Given the description of an element on the screen output the (x, y) to click on. 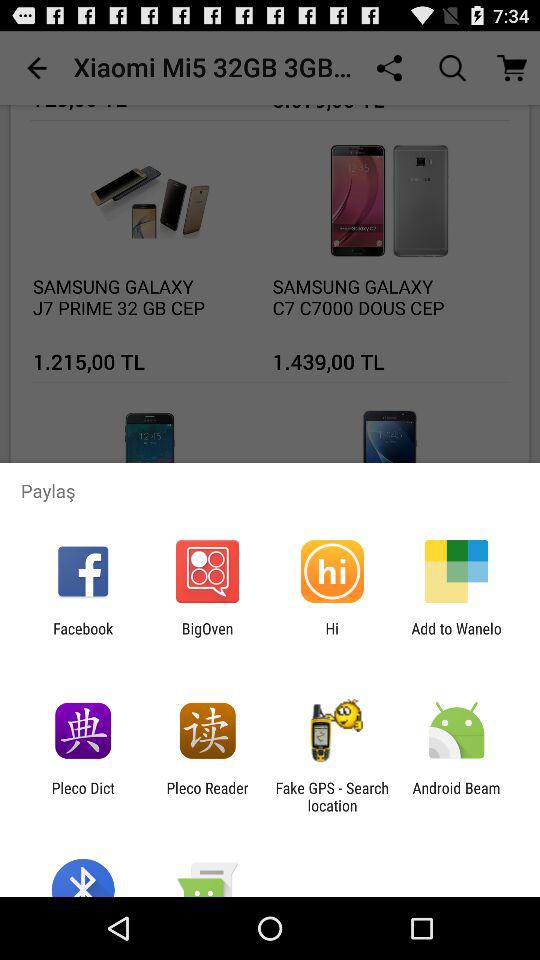
choose app next to the pleco dict (207, 796)
